Given the description of an element on the screen output the (x, y) to click on. 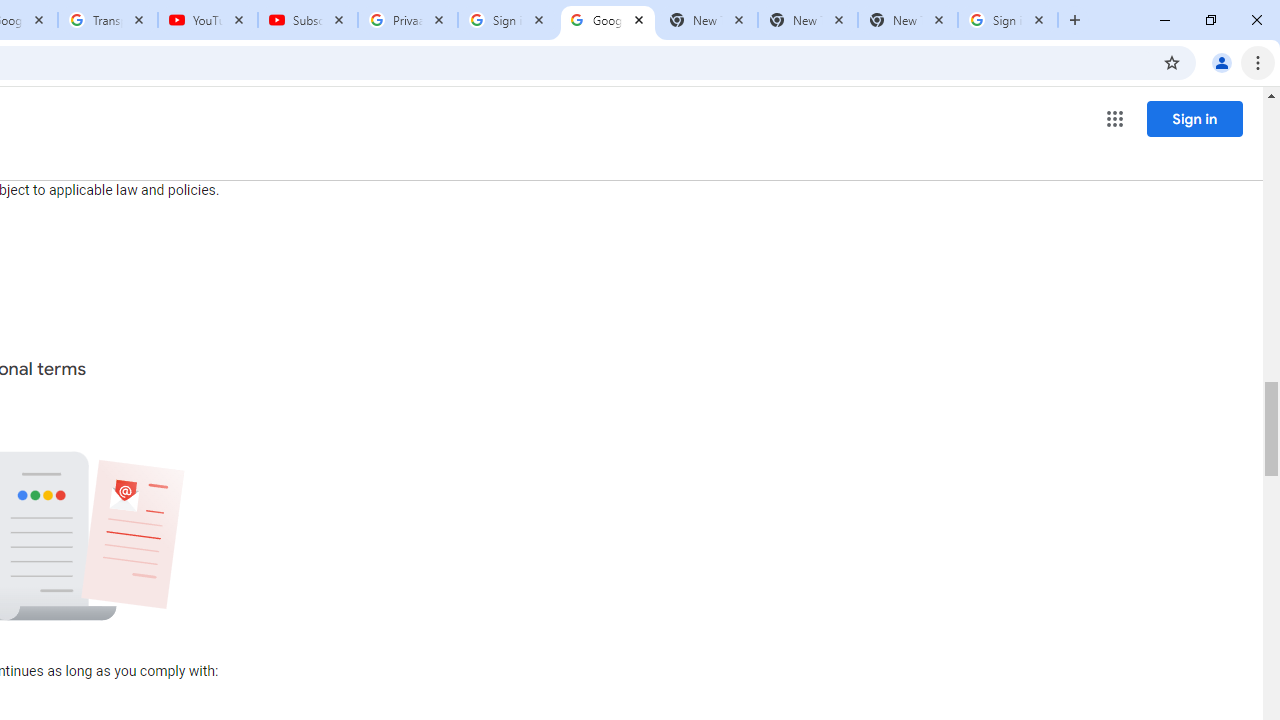
Sign in - Google Accounts (1007, 20)
Subscriptions - YouTube (308, 20)
YouTube (207, 20)
New Tab (907, 20)
